Given the description of an element on the screen output the (x, y) to click on. 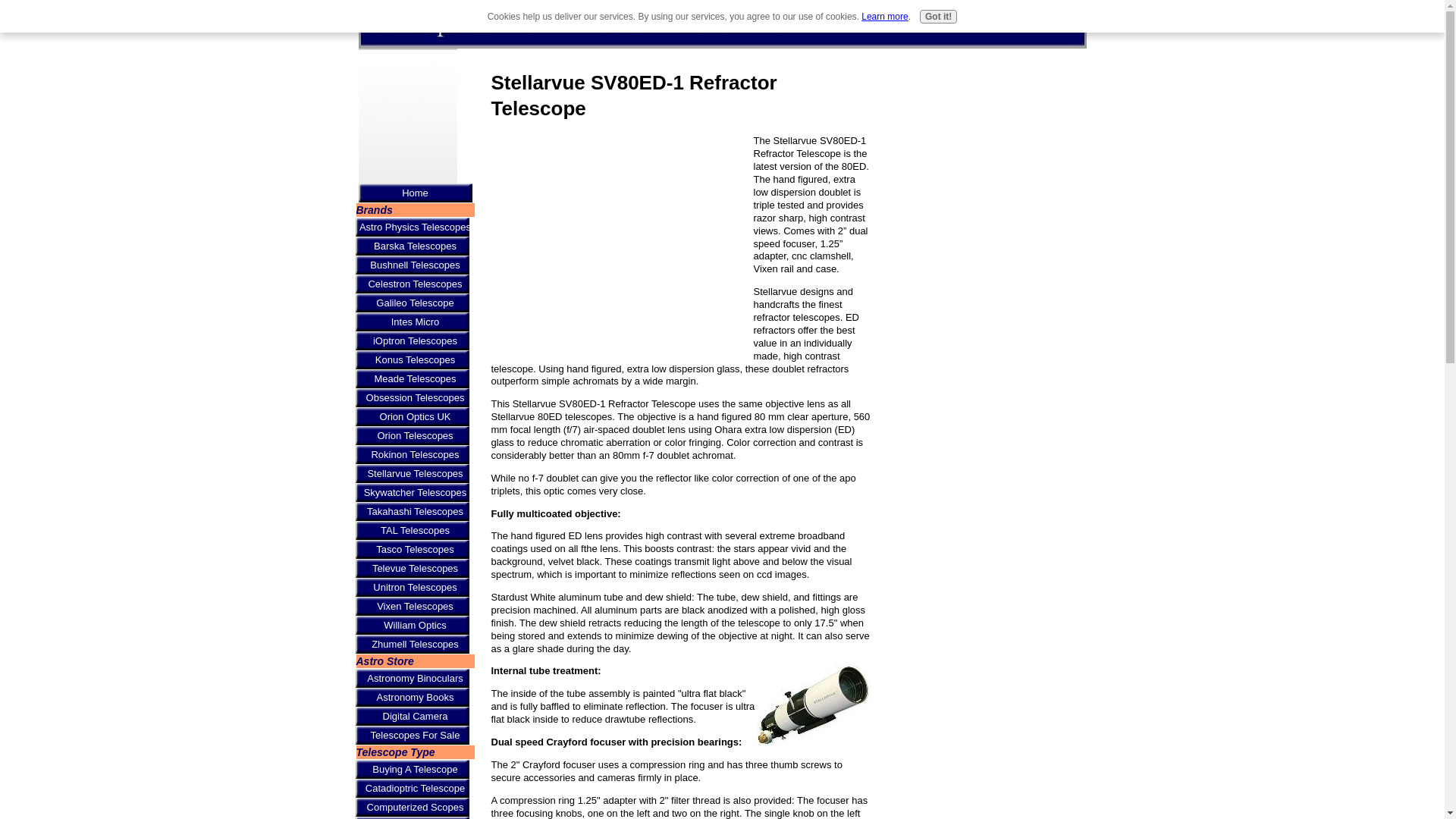
Vixen Telescopes (414, 606)
Skywatcher Telescopes (414, 492)
Bushnell Telescopes (414, 264)
Orion Optics UK (414, 416)
Astronomy Binoculars (414, 678)
Buying A Telescope (414, 769)
Orion Telescopes (414, 435)
Home (414, 192)
Computerized Scopes (414, 806)
TAL Telescopes (414, 529)
